Given the description of an element on the screen output the (x, y) to click on. 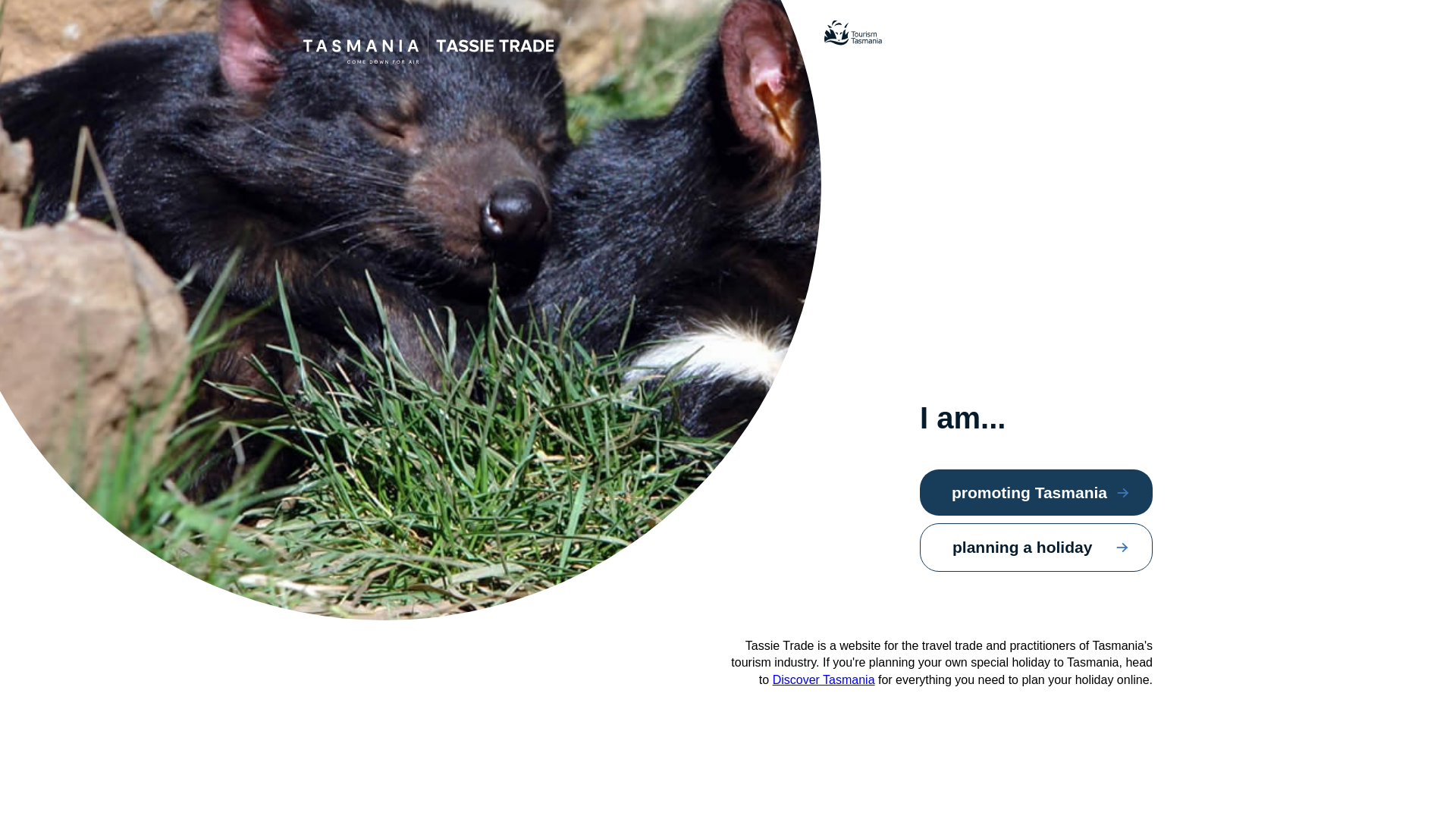
EXPERIENCES (674, 39)
ITINERARIES (772, 39)
EVENTS (854, 39)
RESOURCES (936, 39)
TASSIE TRADE (409, 29)
